Given the description of an element on the screen output the (x, y) to click on. 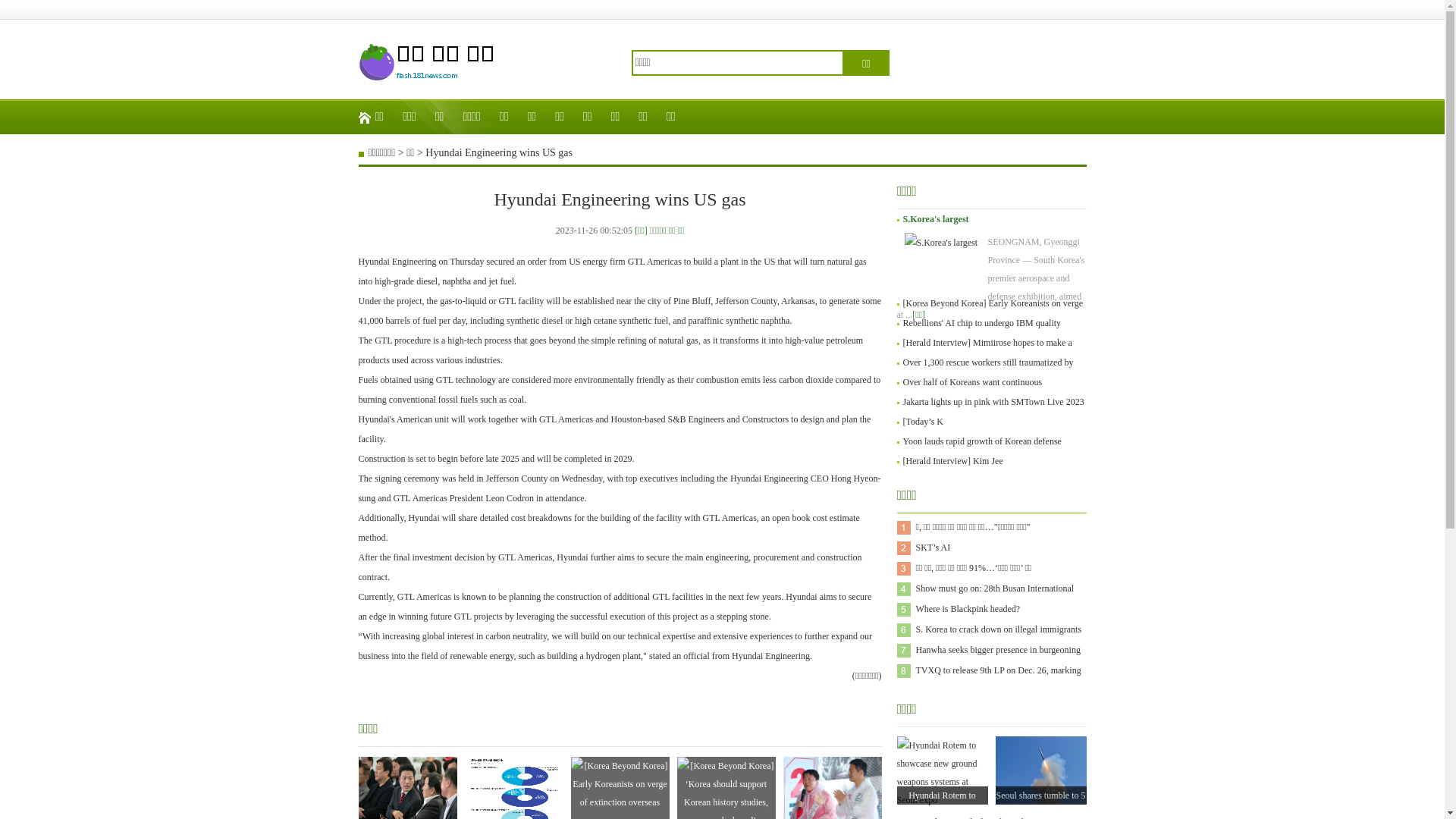
Where is Blackpink headed? Element type: text (968, 608)
S.Korea's largest Element type: text (935, 218)
S. Korea to crack down on illegal immigrants Element type: text (999, 629)
TVXQ to release 9th LP on Dec. 26, marking 20th anniversary Element type: text (998, 680)
[Herald Interview] Kim Jee Element type: text (952, 460)
Rebellions' AI chip to undergo IBM quality testing Element type: text (981, 332)
Yoon lauds rapid growth of Korean defense industry Element type: text (981, 451)
Hyundai Engineering wins US gas Element type: text (498, 152)
[Herald Interview] Mimiirose hopes to make a name for itself Element type: text (986, 352)
Jakarta lights up in pink with SMTown Live 2023 Element type: text (992, 401)
Seoul shares tumble to 5 Element type: text (1040, 795)
